Given the description of an element on the screen output the (x, y) to click on. 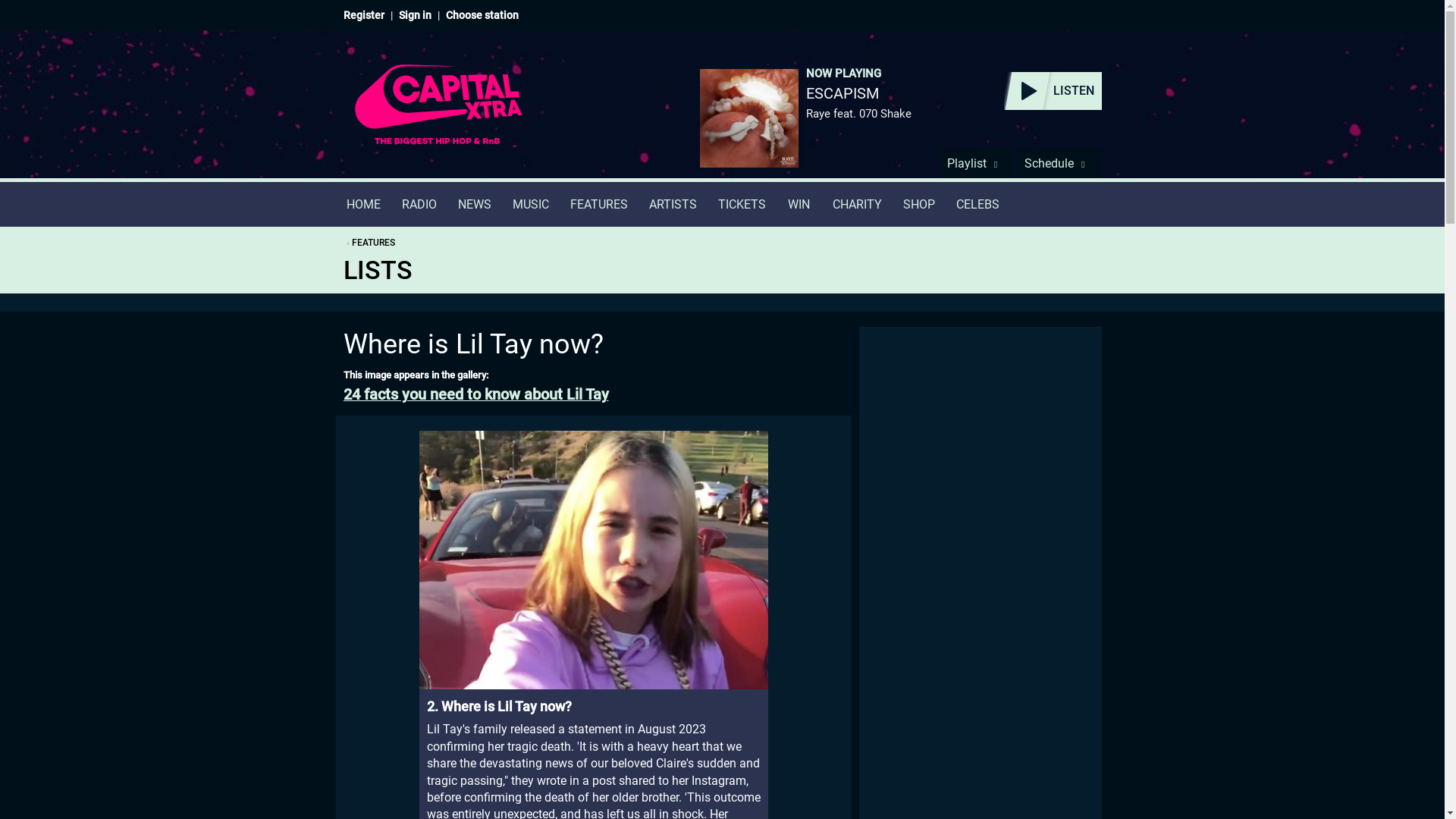
FEATURES (368, 242)
RADIO (418, 203)
CHARITY (857, 203)
Playlist (976, 163)
FEATURES (599, 203)
24 facts you need to know about Lil Tay (592, 393)
ARTISTS (673, 203)
LISTEN (1053, 90)
Sign in (414, 15)
SHOP (917, 203)
Schedule (1058, 163)
MUSIC (530, 203)
WIN (799, 203)
Capital XTRA (437, 113)
NEWS (474, 203)
